Given the description of an element on the screen output the (x, y) to click on. 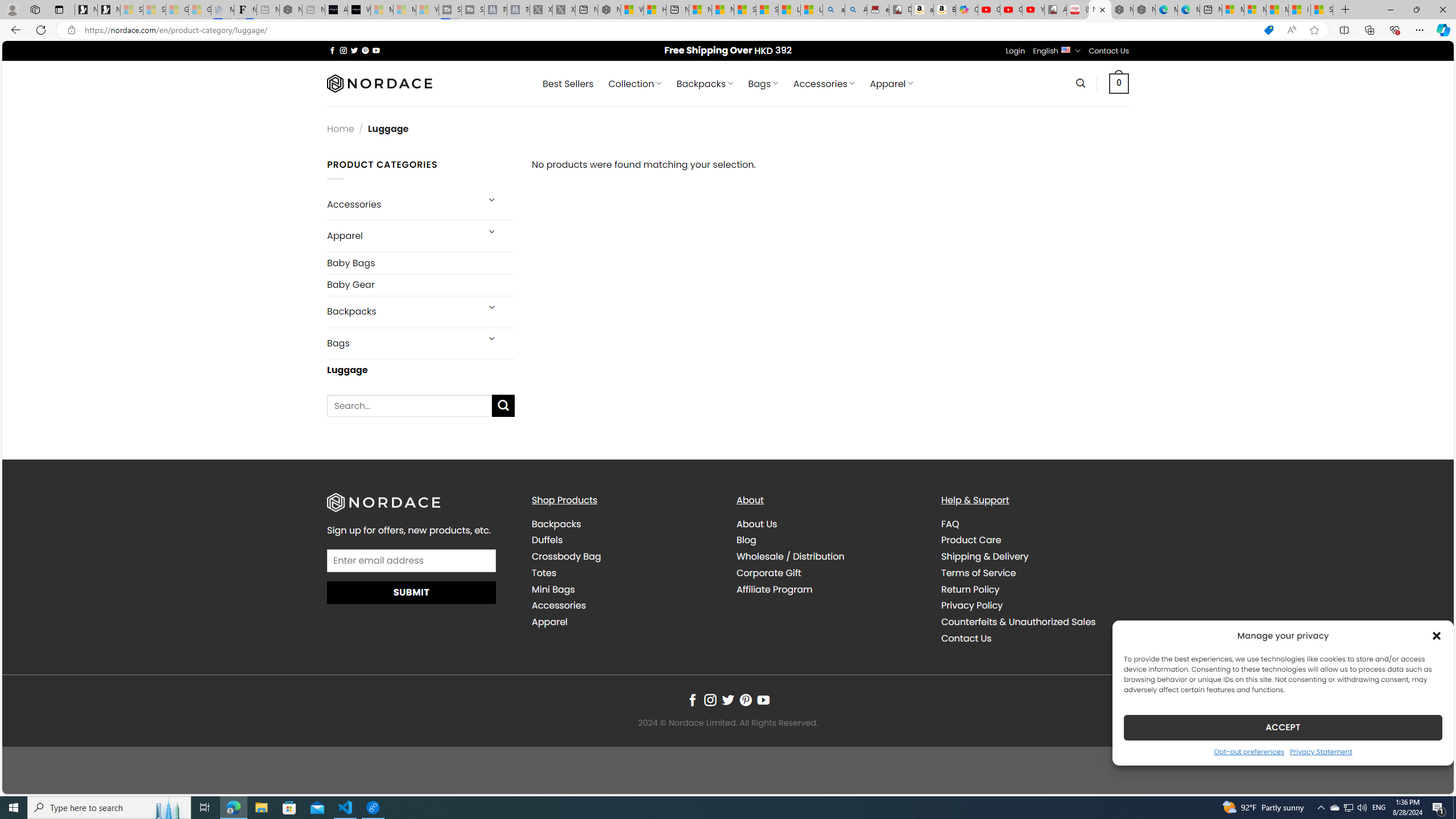
Baby Gear (421, 284)
Accessories (558, 605)
Totes (625, 572)
Follow on Pinterest (745, 700)
About Us (830, 523)
Accessories (625, 605)
Microsoft Start - Sleeping (404, 9)
Terms of Service (1034, 572)
Huge shark washes ashore at New York City beach | Watch (655, 9)
